Given the description of an element on the screen output the (x, y) to click on. 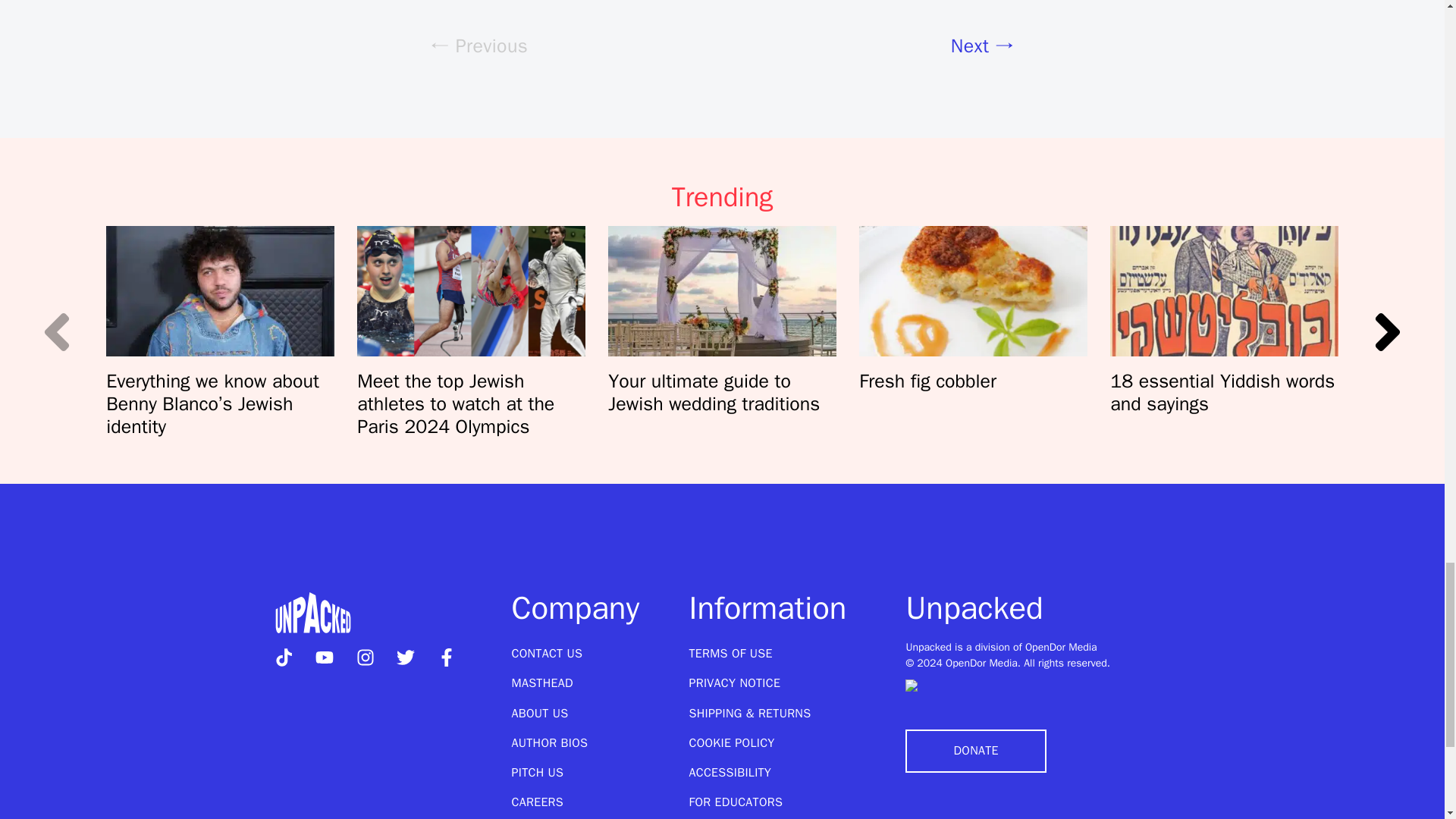
Your ultimate guide to Jewish wedding traditions (721, 291)
Everything we know about Benny Blanco's Jewish identity (220, 291)
